Given the description of an element on the screen output the (x, y) to click on. 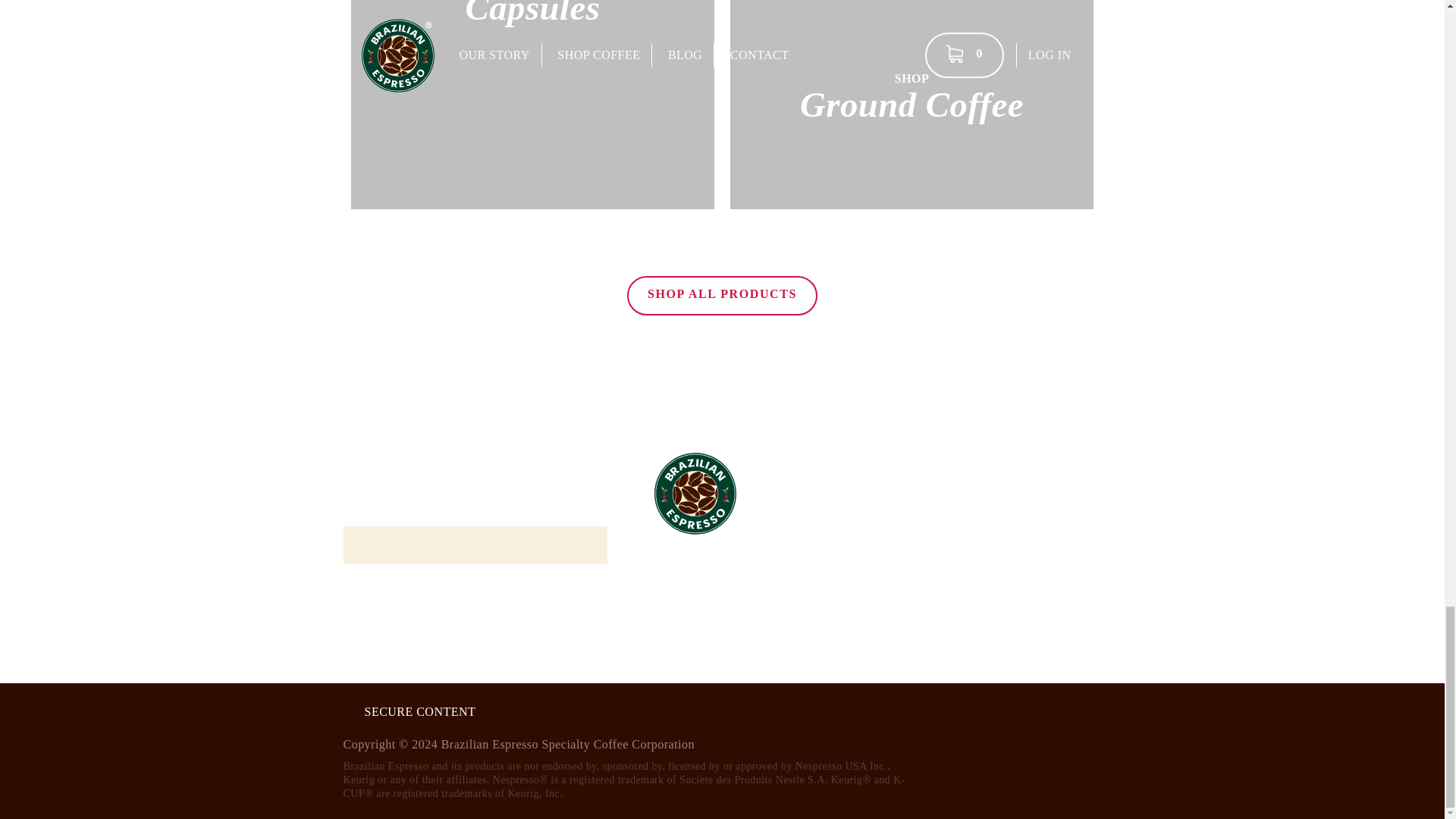
SHOP ALL PRODUCTS (721, 295)
Sign Up (532, 104)
Login (391, 612)
407.730.2111 (1100, 773)
Sign Up (912, 104)
PRIVACY POLICY (853, 498)
Powered by (853, 465)
